Given the description of an element on the screen output the (x, y) to click on. 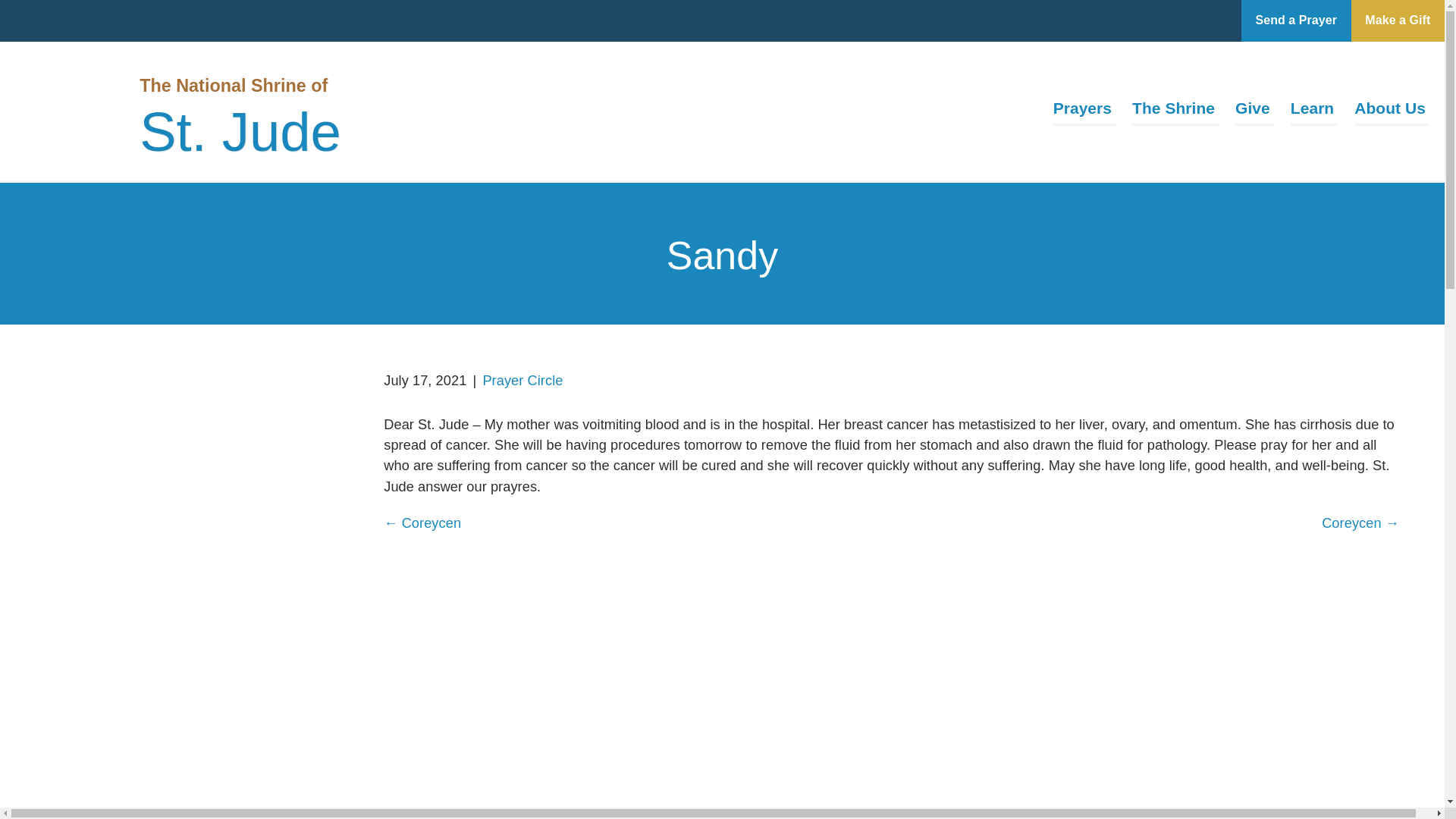
Learn (1314, 111)
Make a Gift (1397, 20)
St. Jude (239, 136)
Prayers (1083, 111)
Send a Prayer (1296, 20)
Give (1254, 111)
The National Shrine of (233, 84)
The Shrine (1175, 111)
